Given the description of an element on the screen output the (x, y) to click on. 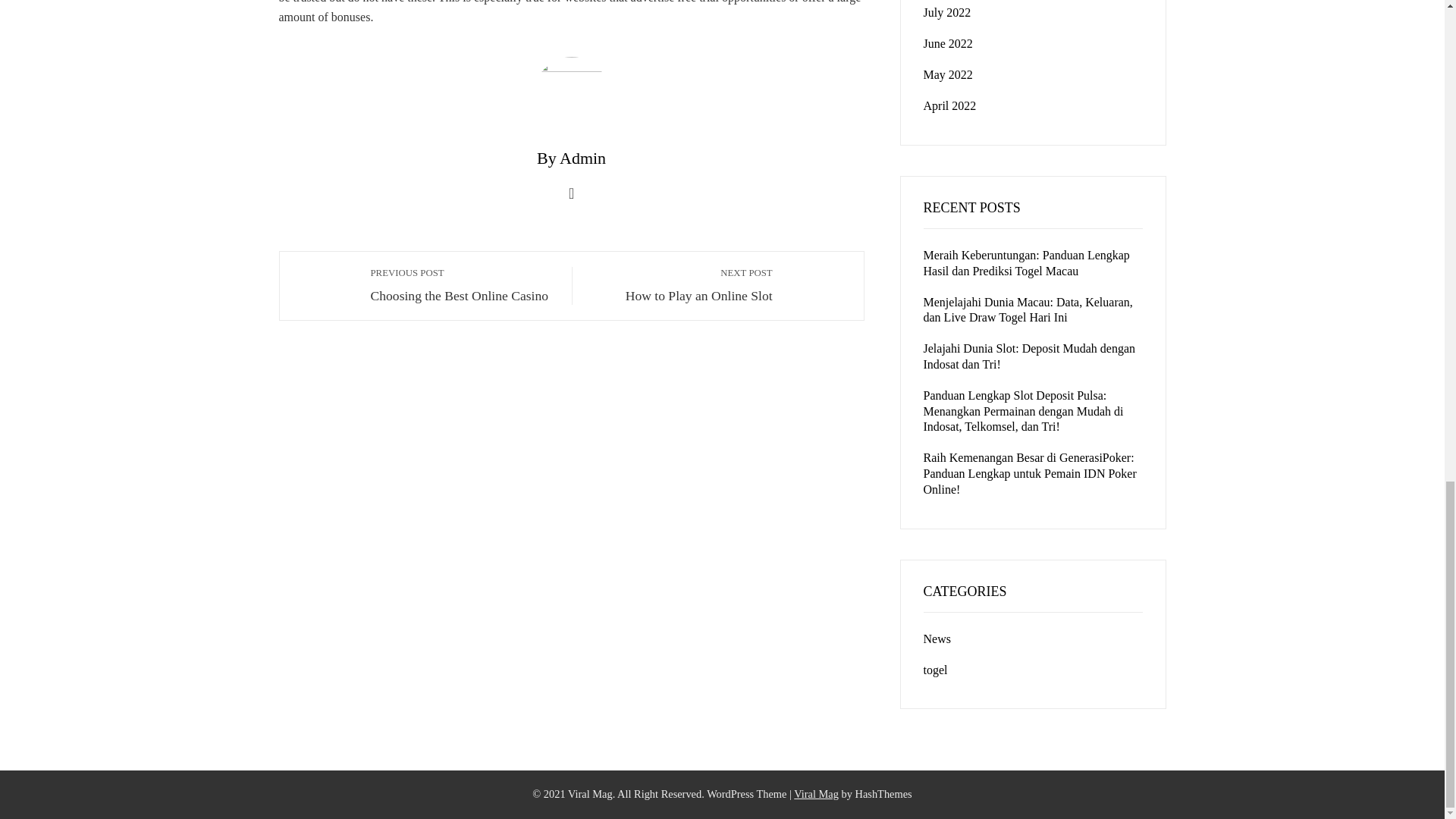
Download Viral News (680, 284)
